Given the description of an element on the screen output the (x, y) to click on. 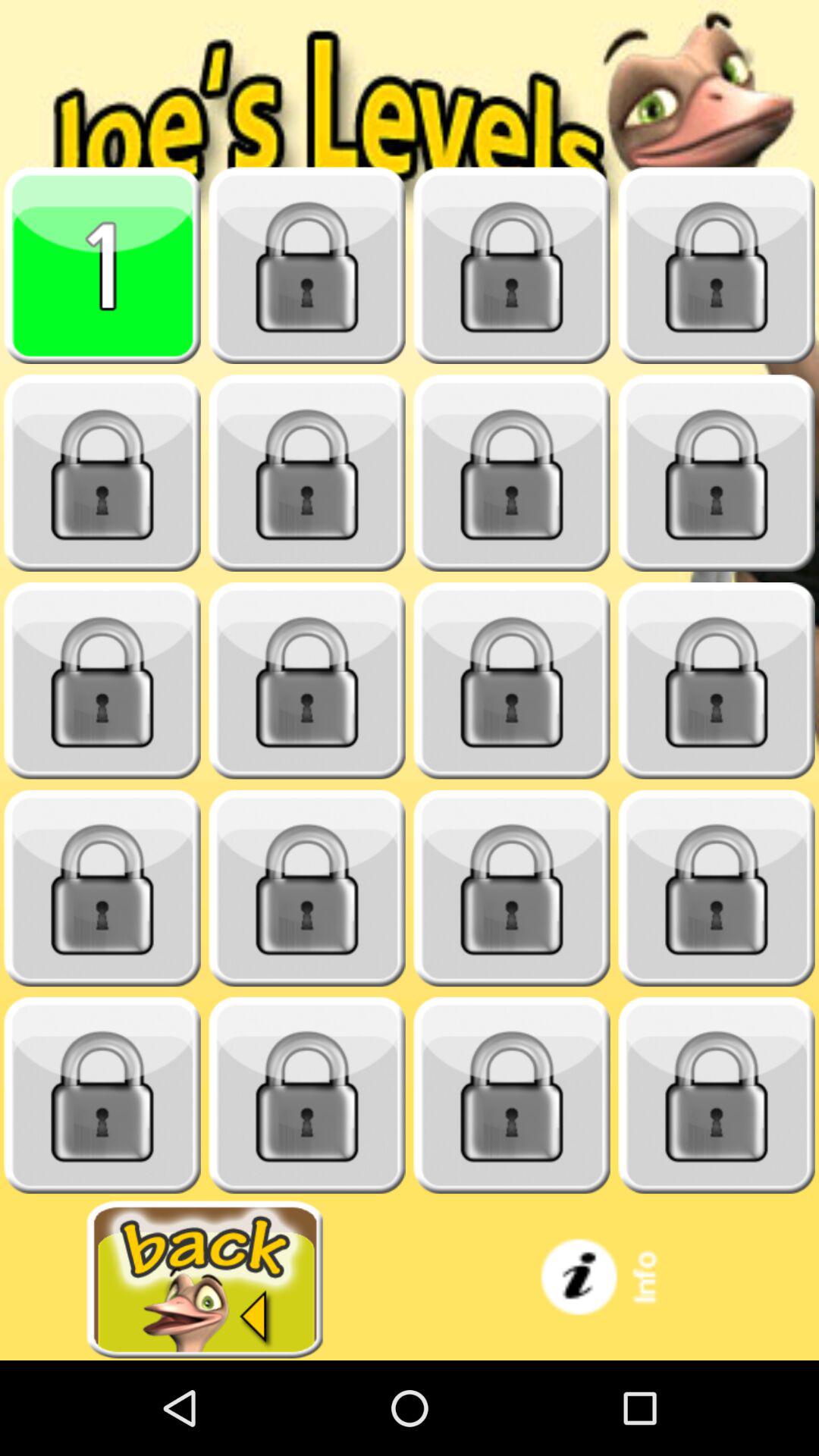
locked (716, 680)
